Given the description of an element on the screen output the (x, y) to click on. 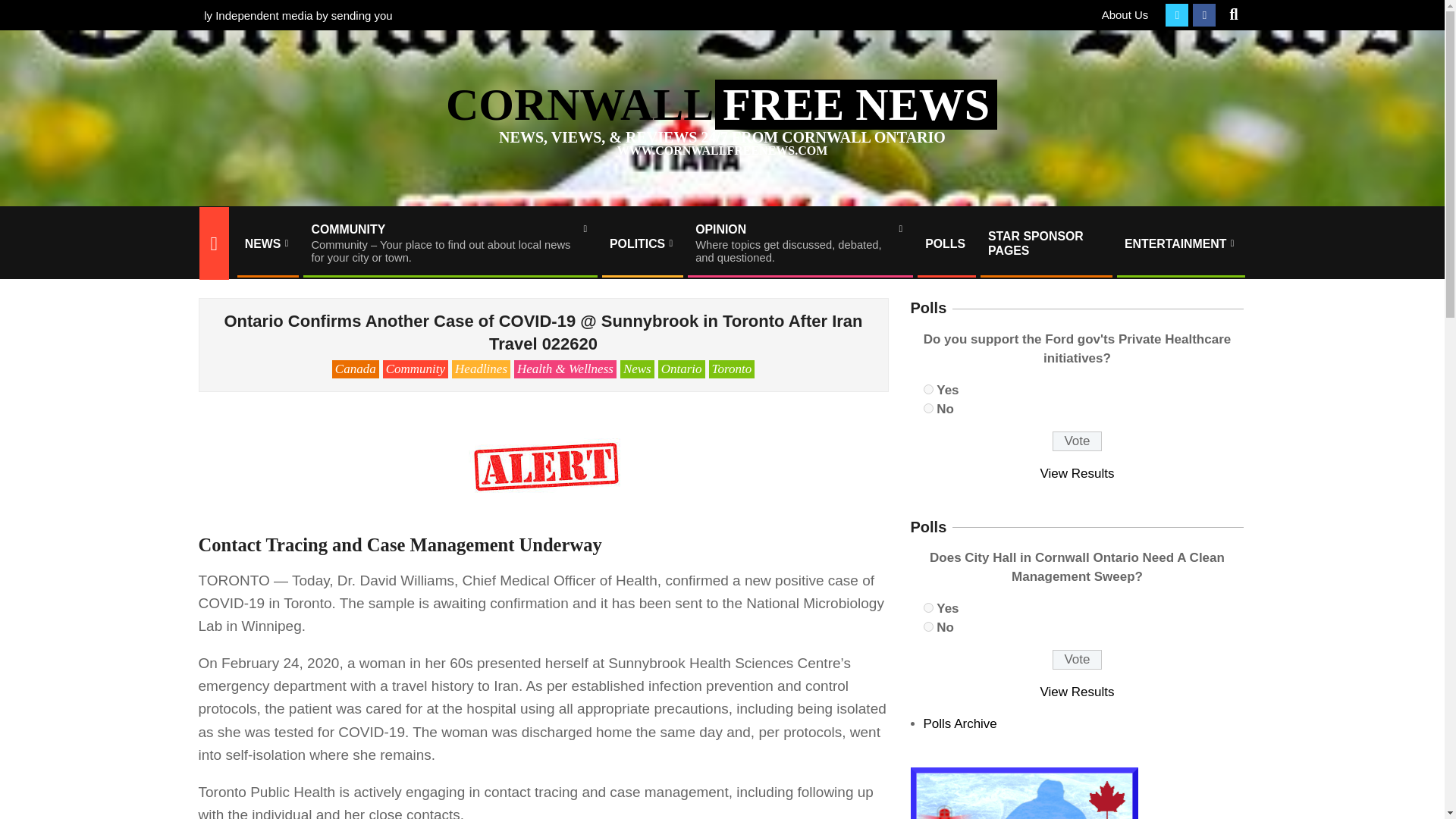
View Results Of This Poll (1078, 691)
1771 (928, 626)
1776 (928, 388)
1777 (928, 408)
Search (24, 9)
ENTERTAINMENT (1179, 243)
About Us (1125, 14)
STAR SPONSOR PAGES (1044, 243)
1770 (799, 243)
